Given the description of an element on the screen output the (x, y) to click on. 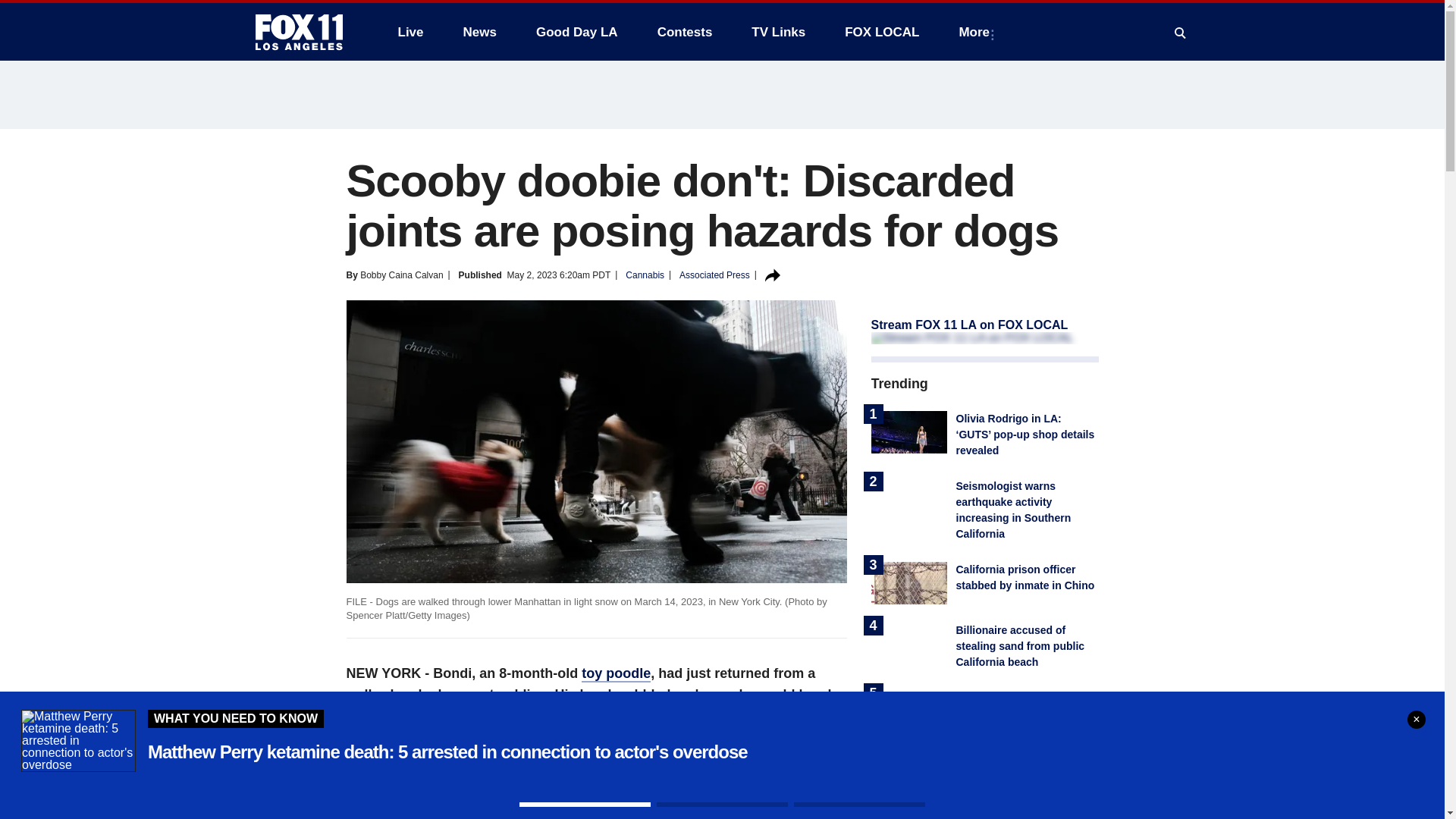
FOX LOCAL (881, 32)
Live (410, 32)
More (976, 32)
News (479, 32)
Contests (685, 32)
Good Day LA (577, 32)
TV Links (777, 32)
